Given the description of an element on the screen output the (x, y) to click on. 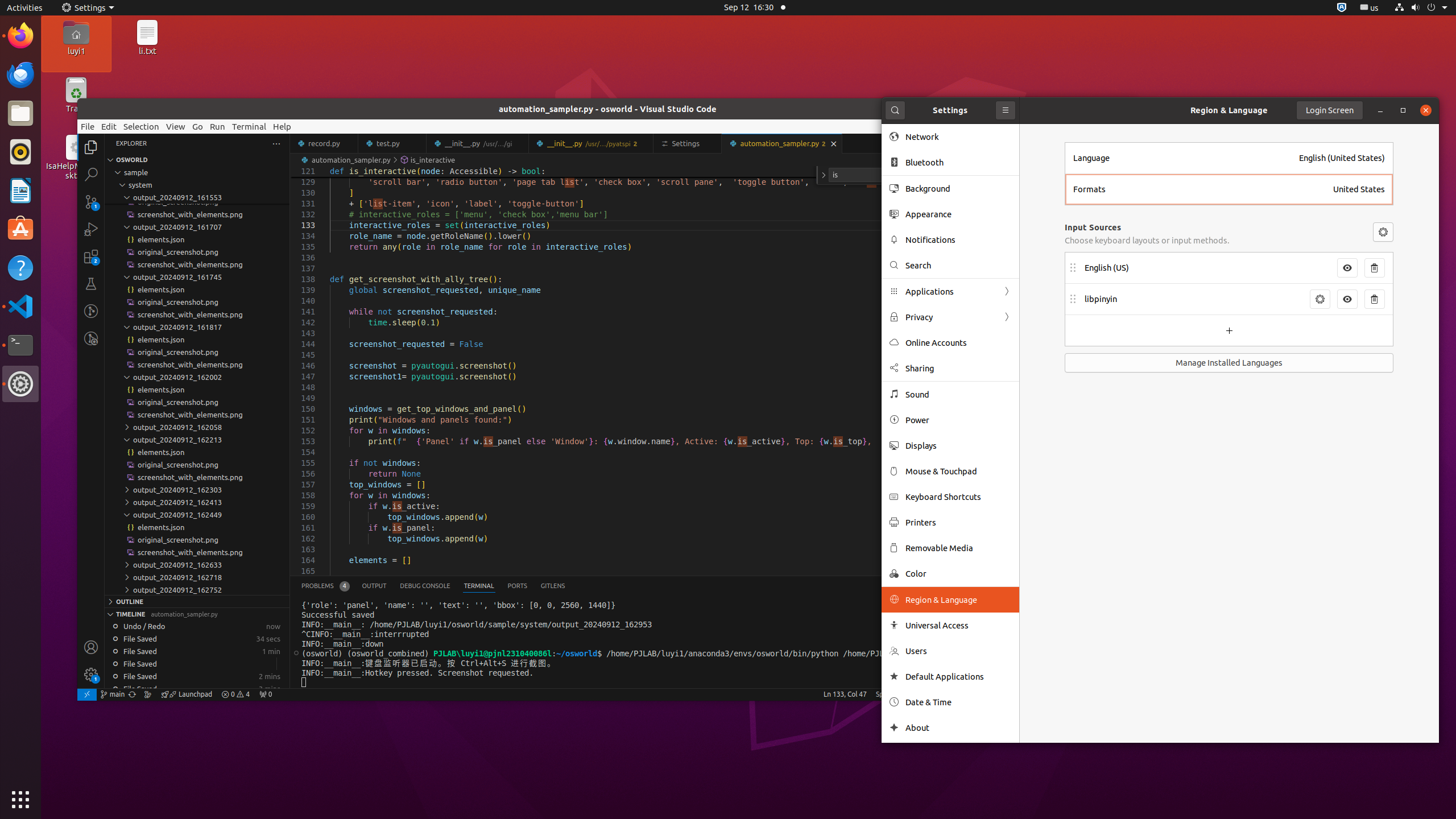
Menu Element type: toggle-button (1382, 231)
Date & Time Element type: label (958, 701)
Search Element type: label (958, 265)
Power Element type: label (958, 419)
